Given the description of an element on the screen output the (x, y) to click on. 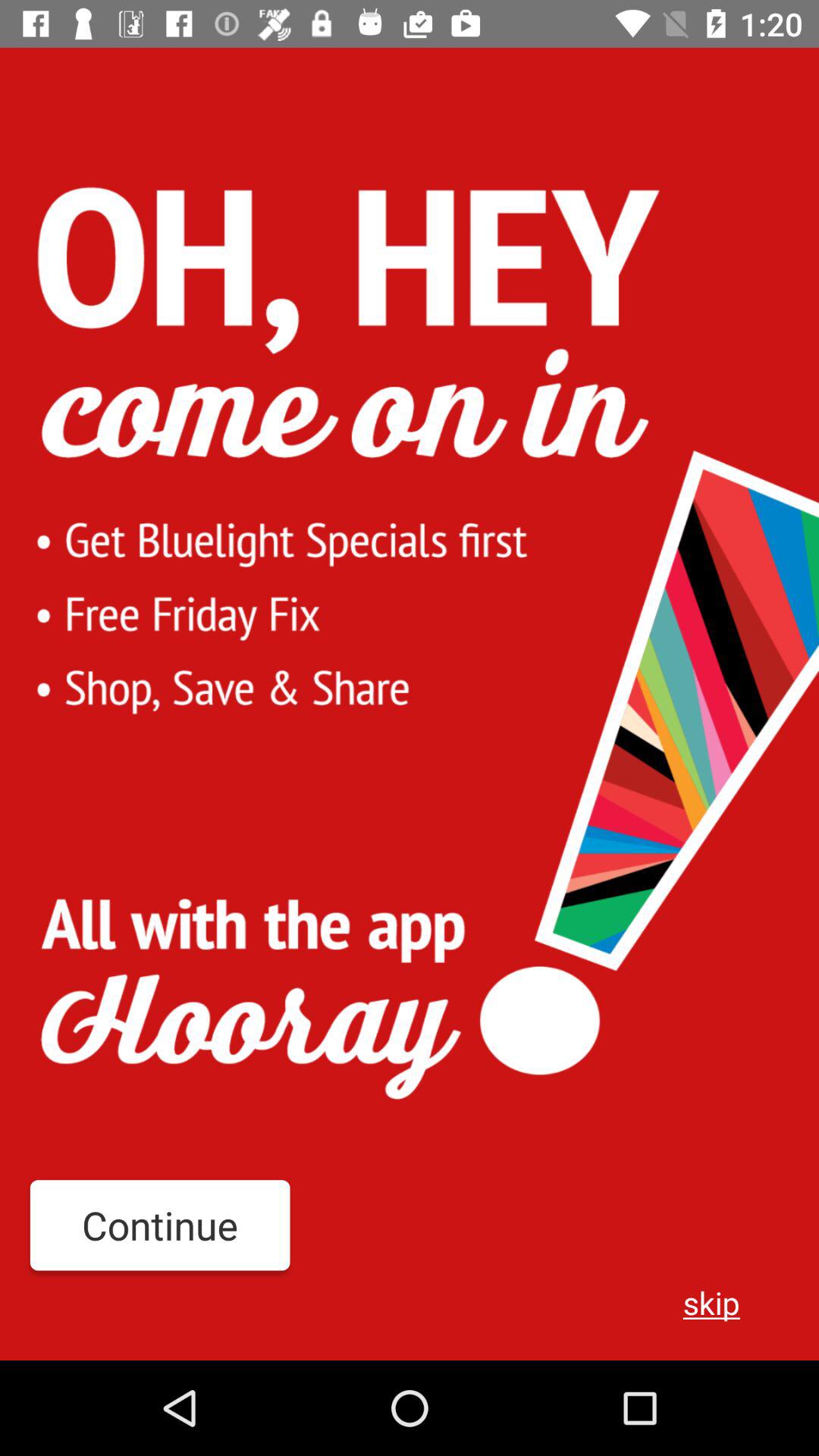
open icon at the bottom left corner (160, 1225)
